Given the description of an element on the screen output the (x, y) to click on. 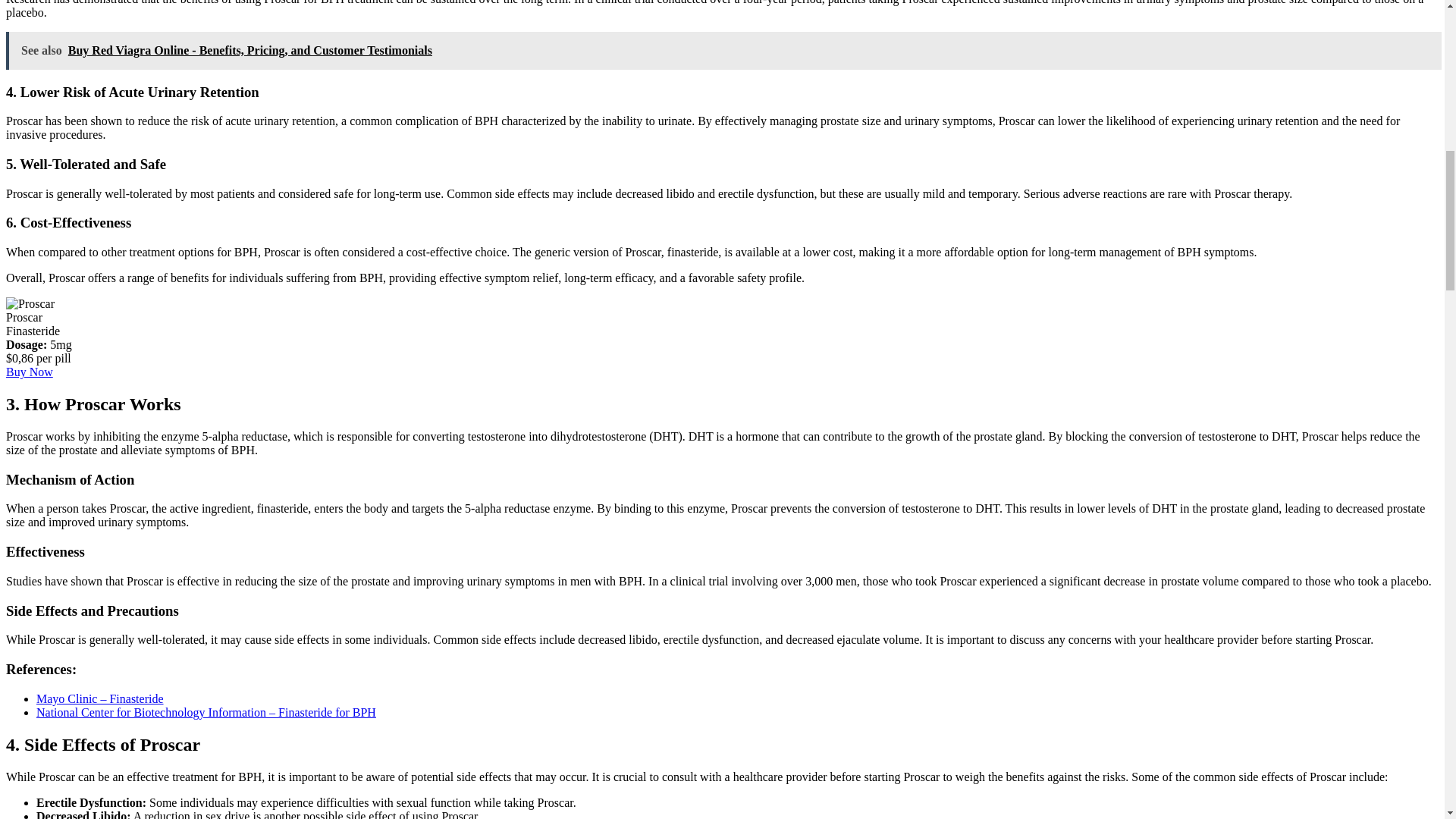
Buy Now (28, 371)
